Given the description of an element on the screen output the (x, y) to click on. 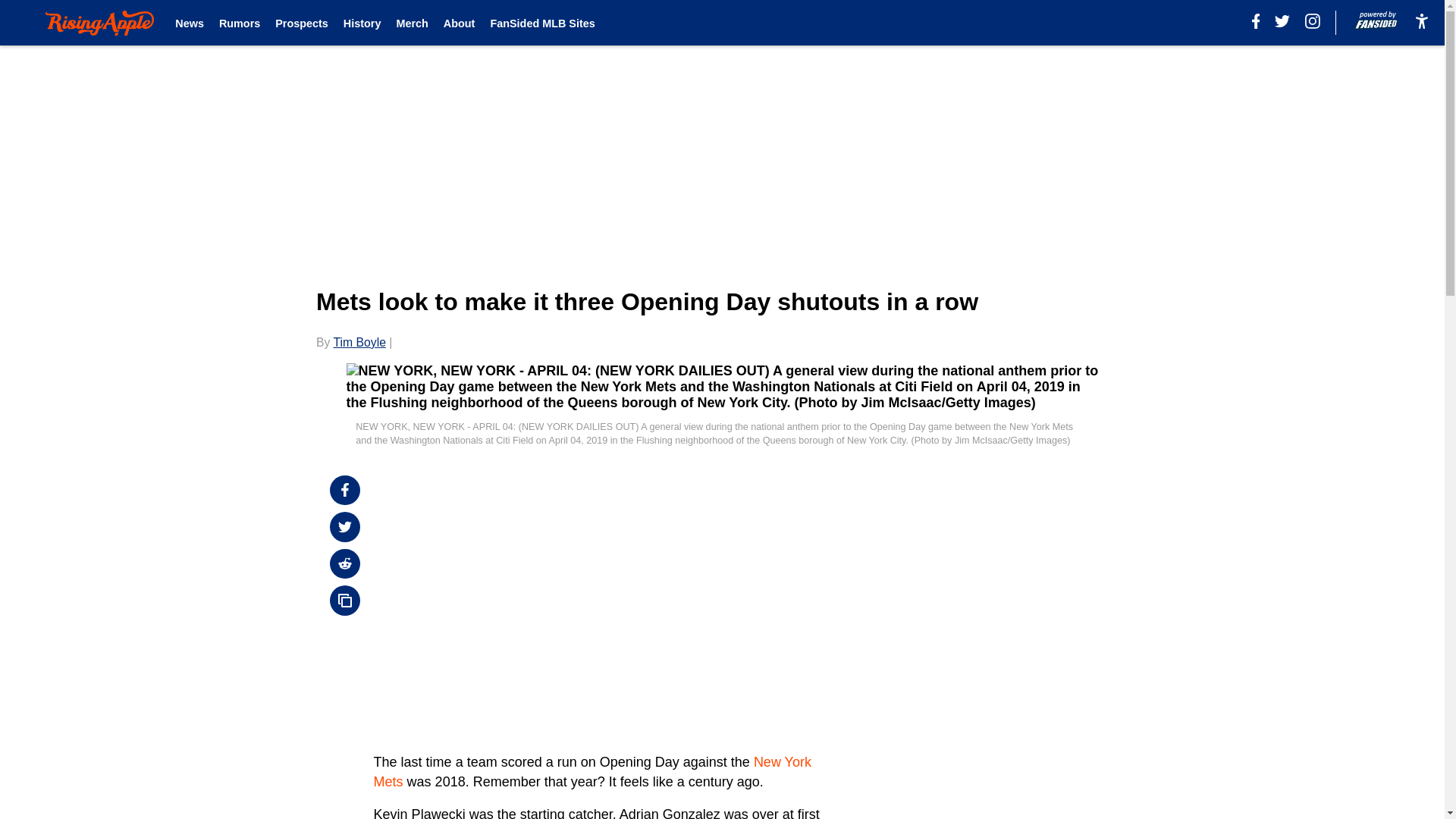
Tim Boyle (359, 341)
About (460, 23)
Prospects (302, 23)
History (362, 23)
New York Mets (592, 771)
Merch (412, 23)
News (188, 23)
FanSided MLB Sites (541, 23)
Rumors (239, 23)
